Given the description of an element on the screen output the (x, y) to click on. 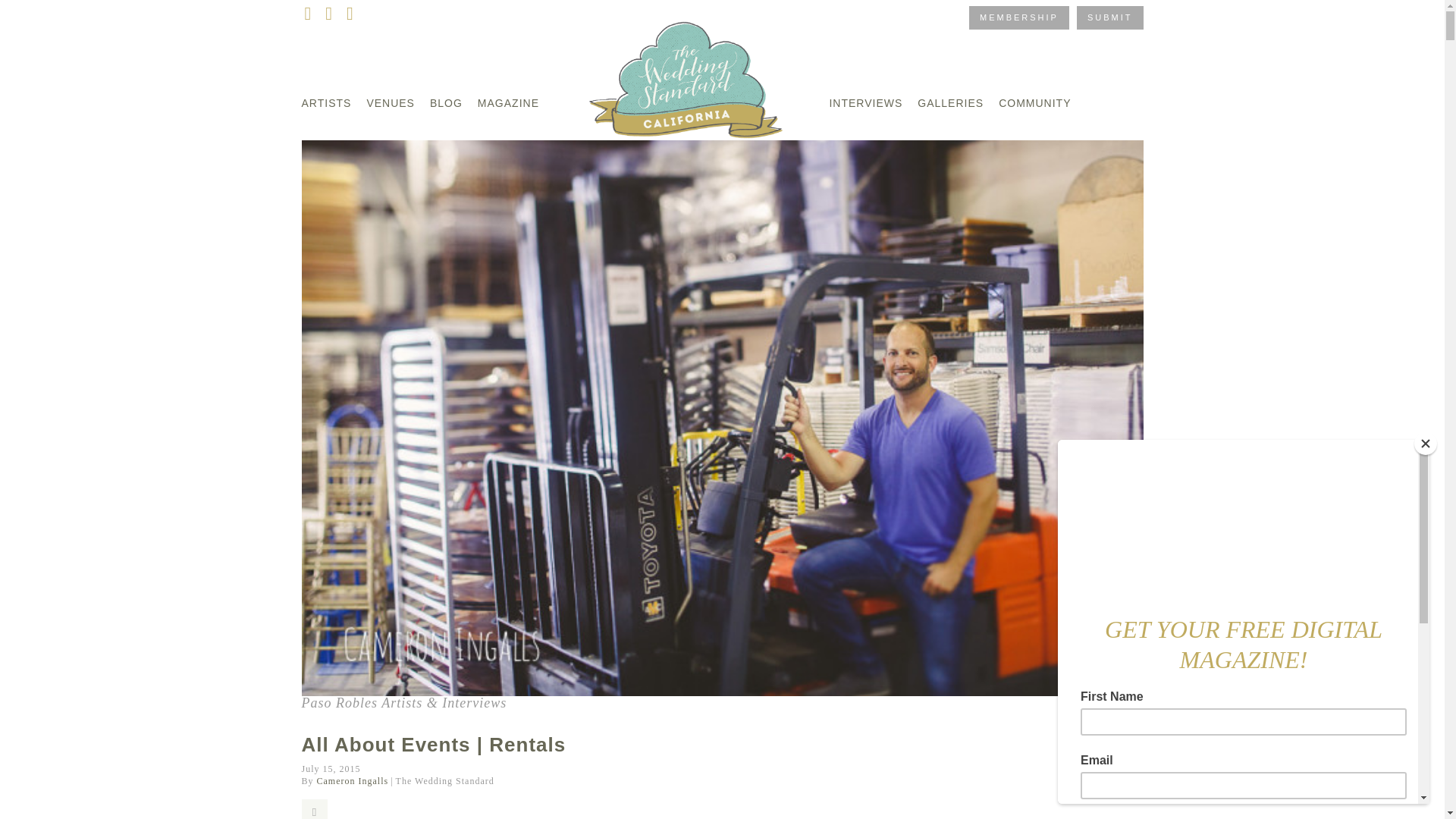
SUBMIT (1109, 17)
Cameron Ingalls (352, 780)
BLOG (453, 102)
INTERVIEWS (857, 102)
MAGAZINE (515, 102)
ARTISTS (333, 102)
MEMBERSHIP (1018, 17)
VENUES (397, 102)
GALLERIES (943, 102)
COMMUNITY (1027, 102)
